Given the description of an element on the screen output the (x, y) to click on. 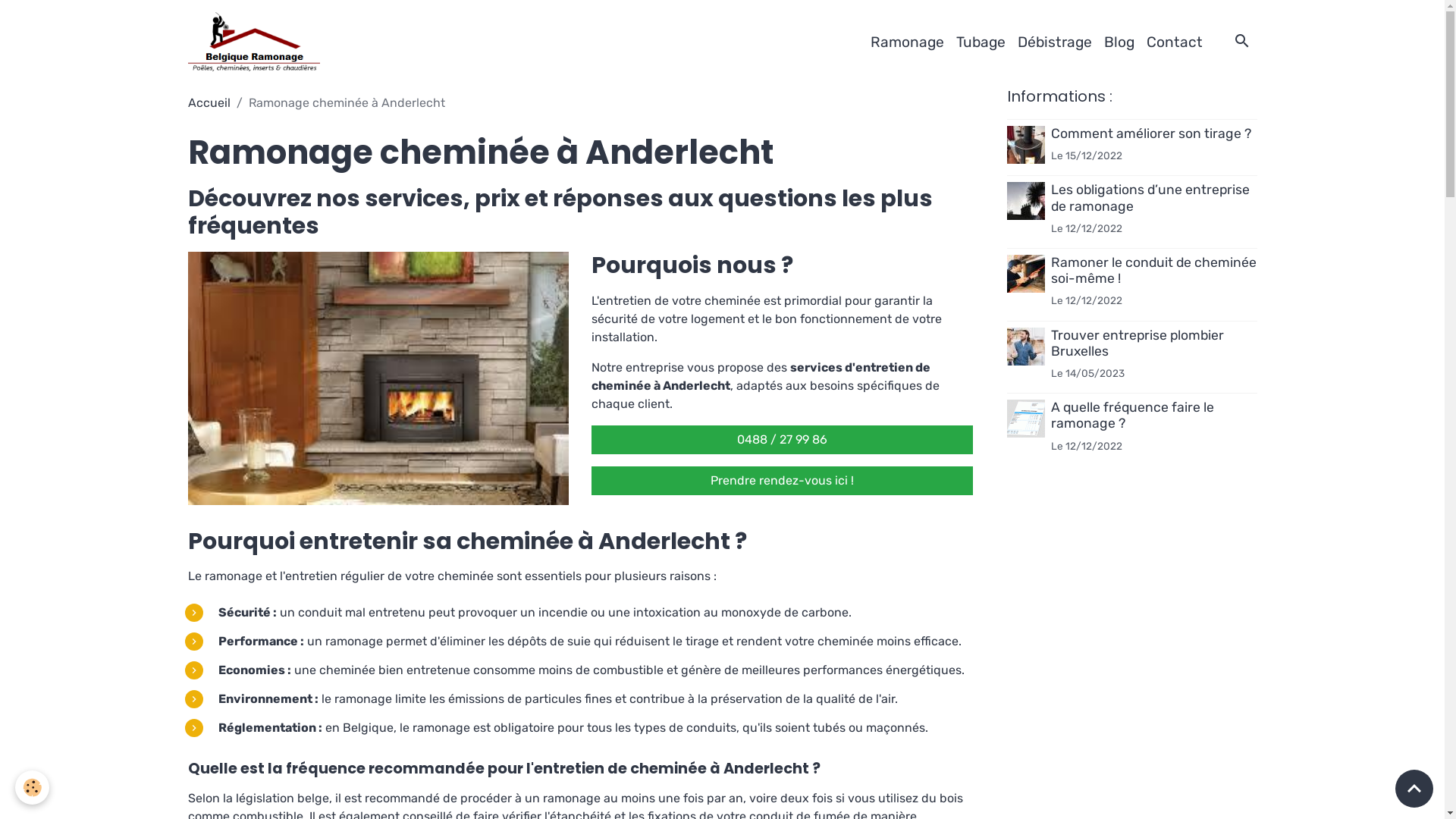
Trouver entreprise plombier Bruxelles Element type: text (1137, 342)
Prendre rendez-vous ici ! Element type: text (781, 480)
0488 / 27 99 86 Element type: text (781, 439)
Tubage Element type: text (979, 42)
Ramonage Element type: text (907, 42)
Blog Element type: text (1119, 42)
Accueil Element type: text (209, 102)
Contact Element type: text (1174, 42)
